Given the description of an element on the screen output the (x, y) to click on. 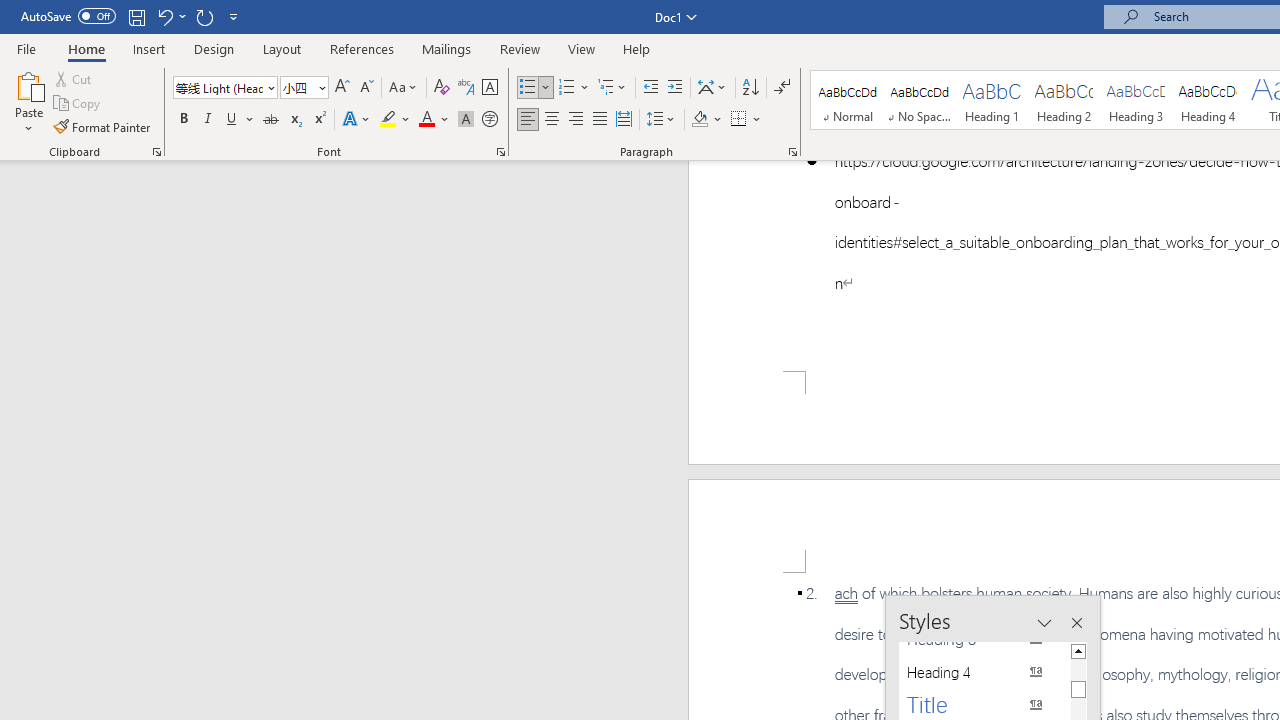
Font Color (434, 119)
Align Right (575, 119)
Font... (500, 151)
Heading 3 (1135, 100)
Text Highlight Color Yellow (388, 119)
Shading RGB(0, 0, 0) (699, 119)
Center (552, 119)
Sort... (750, 87)
Asian Layout (712, 87)
